Given the description of an element on the screen output the (x, y) to click on. 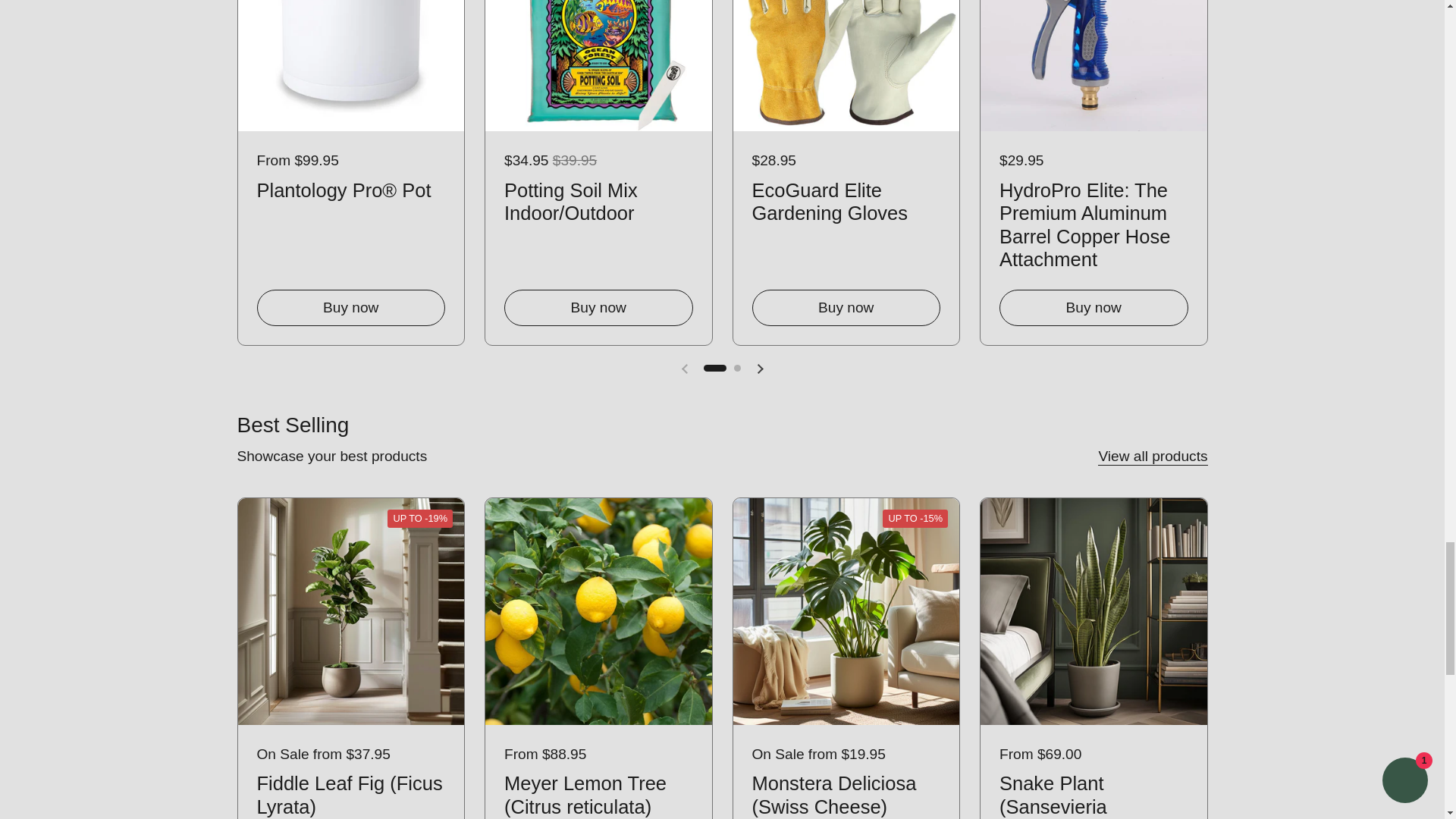
EcoGuard Elite Gardening Gloves (846, 199)
Stainless Steel Garden Hose with Premium Brass Nozzle (1340, 222)
